Given the description of an element on the screen output the (x, y) to click on. 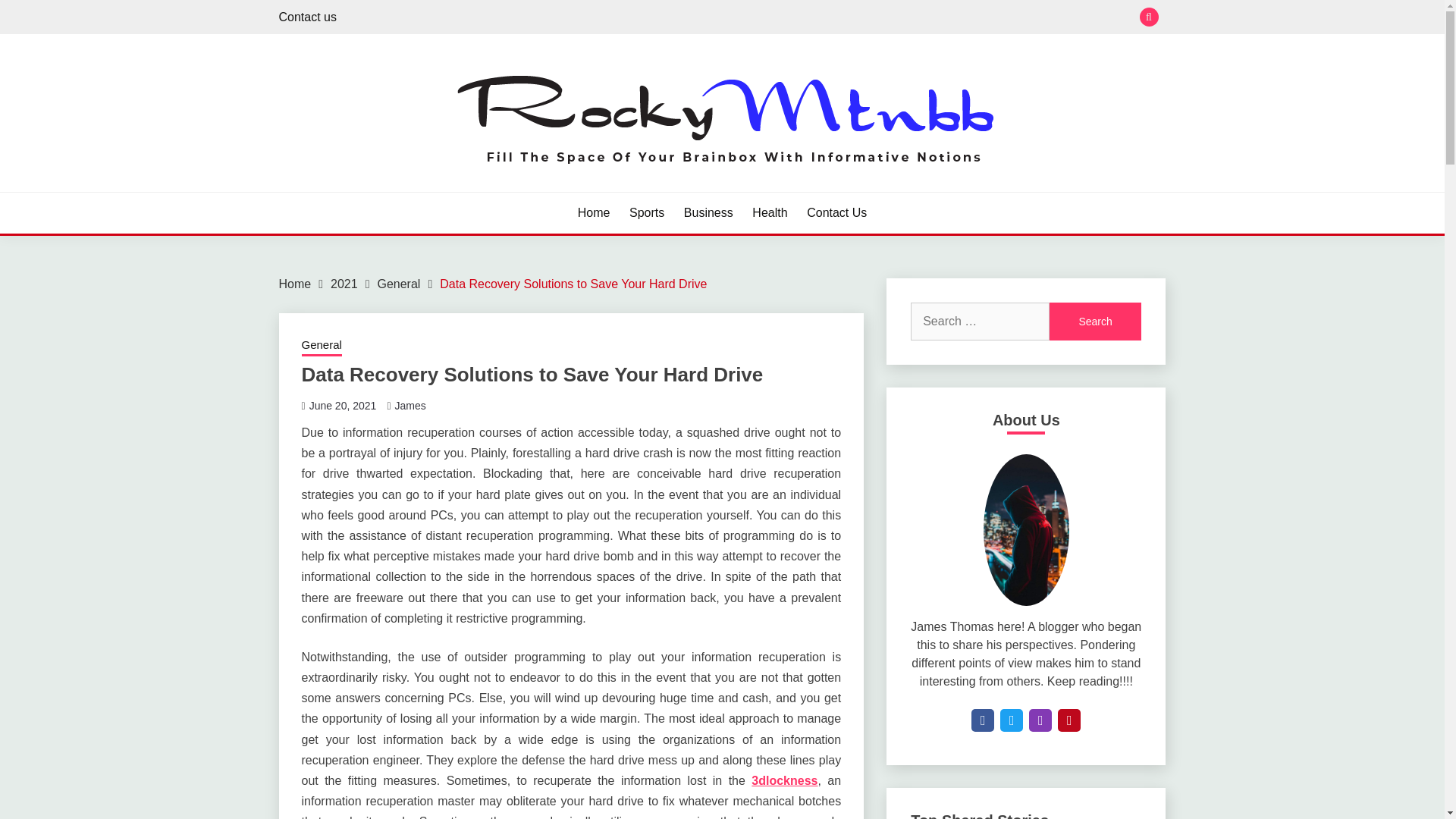
Business (708, 212)
instagram (1040, 719)
James (409, 405)
General (321, 346)
Contact us (307, 16)
ROCKY MTNBB (383, 189)
facebook (982, 719)
3dlockness (783, 780)
Search (832, 18)
Search (1095, 321)
General (398, 283)
Contact Us (836, 212)
twitter (1011, 719)
Sports (645, 212)
Health (769, 212)
